Given the description of an element on the screen output the (x, y) to click on. 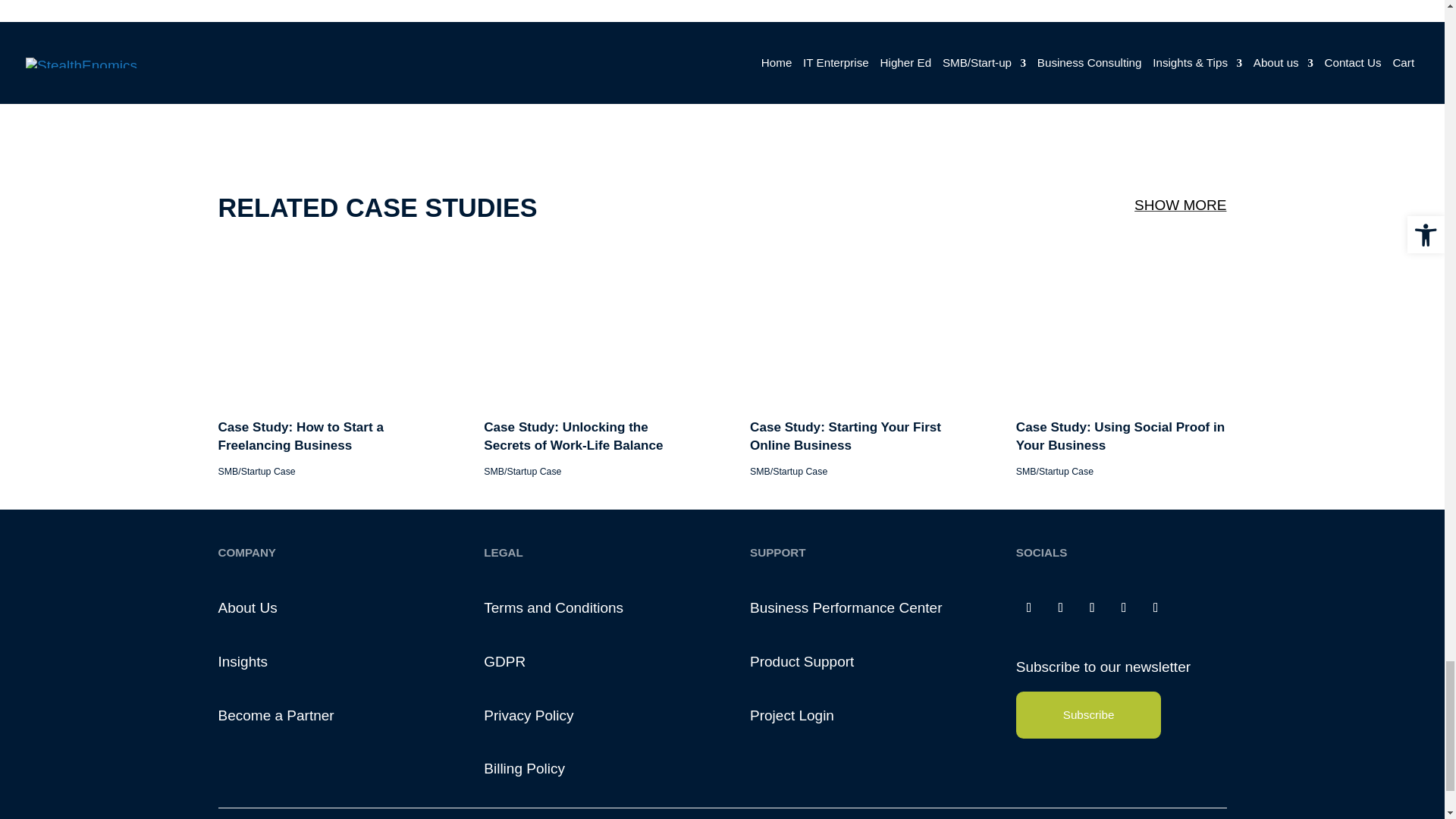
Case Study: Using Social Proof in Your Business (1179, 569)
Case Study: Using Social Proof in Your Business (1178, 674)
Case Study: Starting Your First Online Business (889, 674)
Case Study: How to Start a Freelancing Business (317, 674)
Case Study: Unlocking the Secrets of Work-Life Balance (603, 674)
Case Study: Unlocking the Secrets of Work-Life Balance (619, 569)
Case Study: How to Start a Freelancing Business (340, 569)
Case Study: Starting Your First Online Business (899, 569)
